Given the description of an element on the screen output the (x, y) to click on. 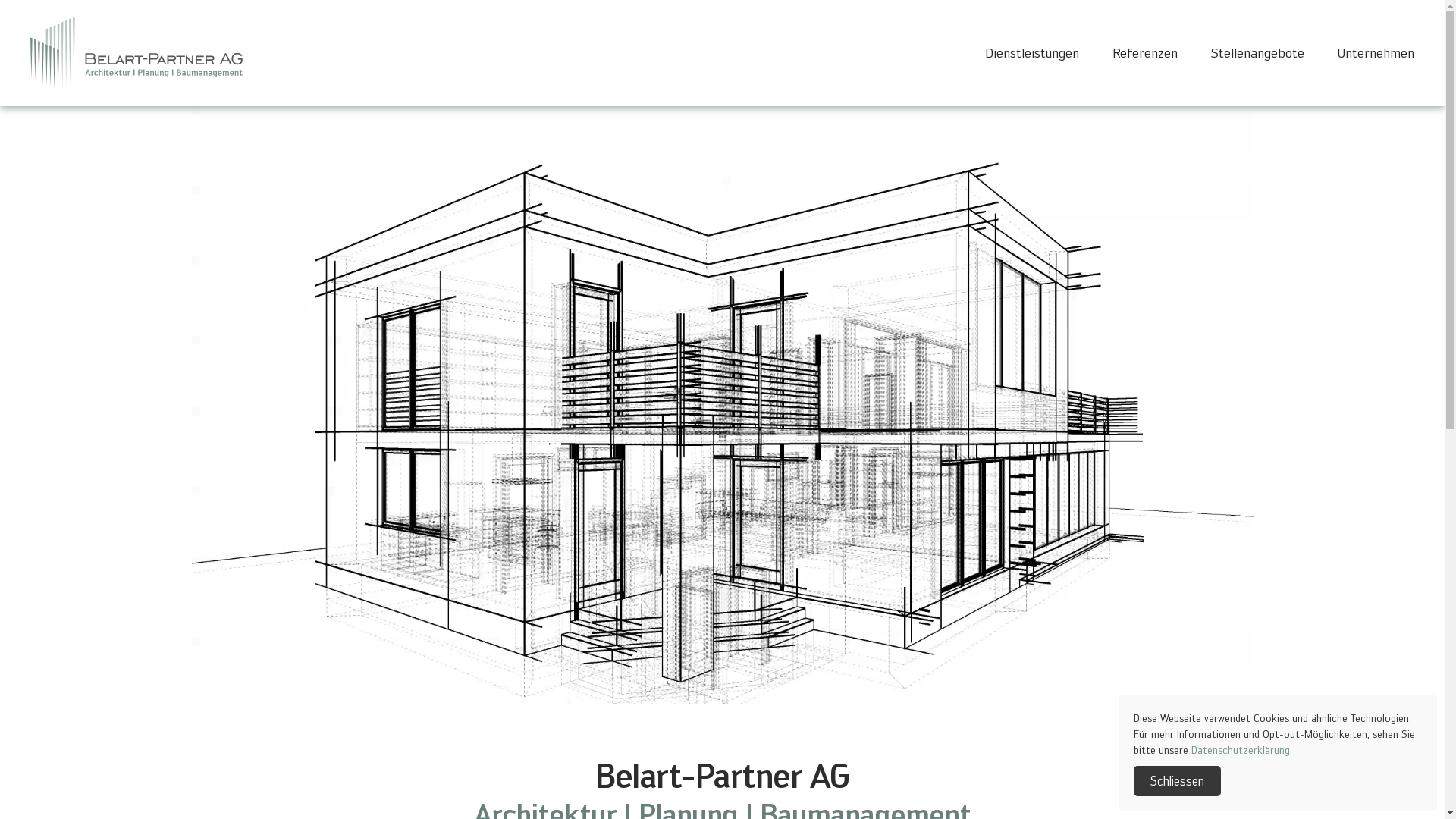
Stellenangebote Element type: text (1257, 53)
Dienstleistungen Element type: text (1032, 53)
Referenzen Element type: text (1144, 53)
Unternehmen Element type: text (1375, 53)
Schliessen Element type: text (1176, 780)
